Given the description of an element on the screen output the (x, y) to click on. 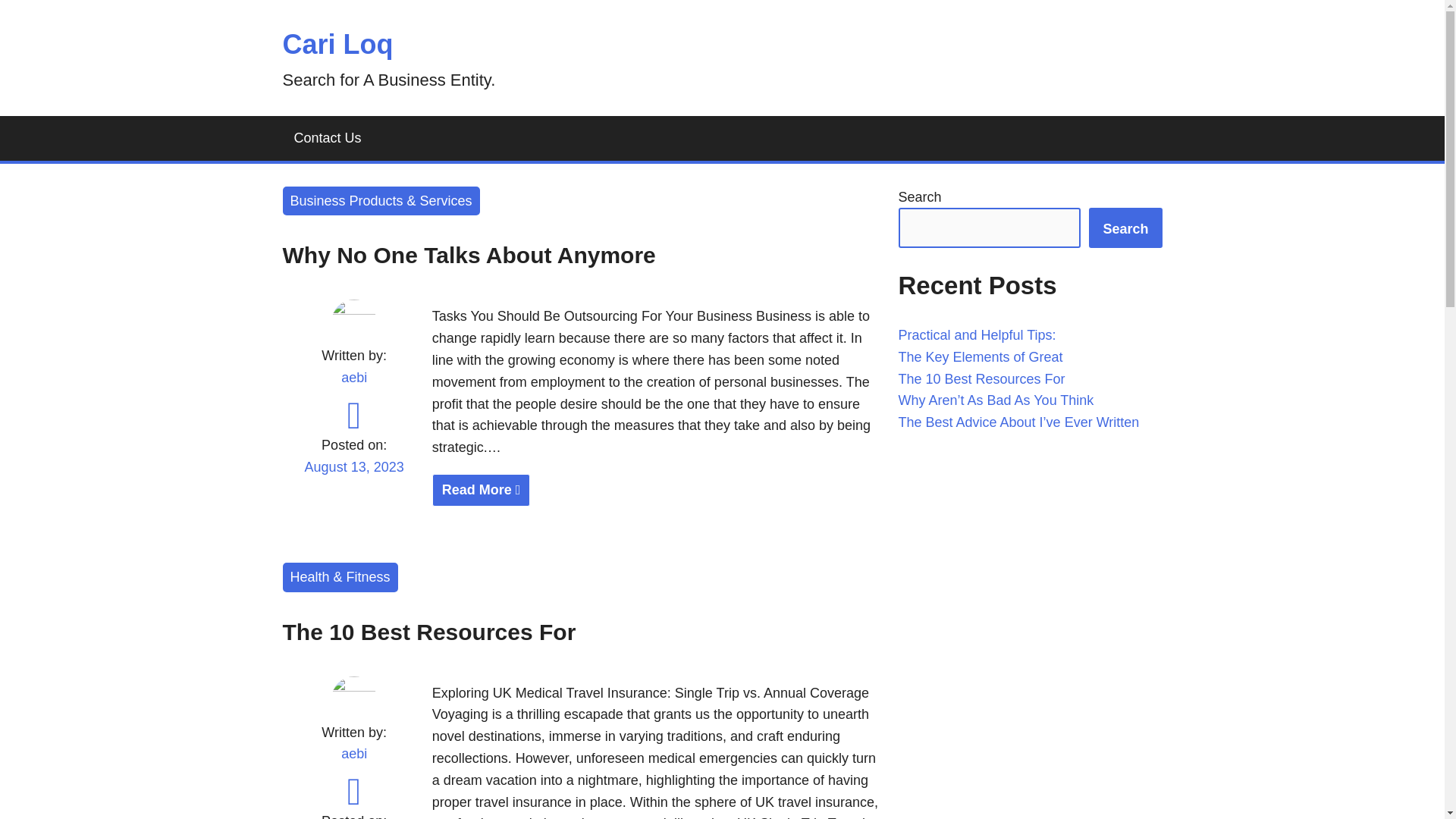
aebi (353, 753)
aebi (353, 377)
Cari Loq (337, 43)
August 13, 2023 (353, 476)
Why No One Talks About Anymore (468, 254)
Read More (481, 490)
Contact Us (327, 138)
Why No One Talks About  Anymore (656, 490)
The 10 Best Resources For (428, 631)
